Given the description of an element on the screen output the (x, y) to click on. 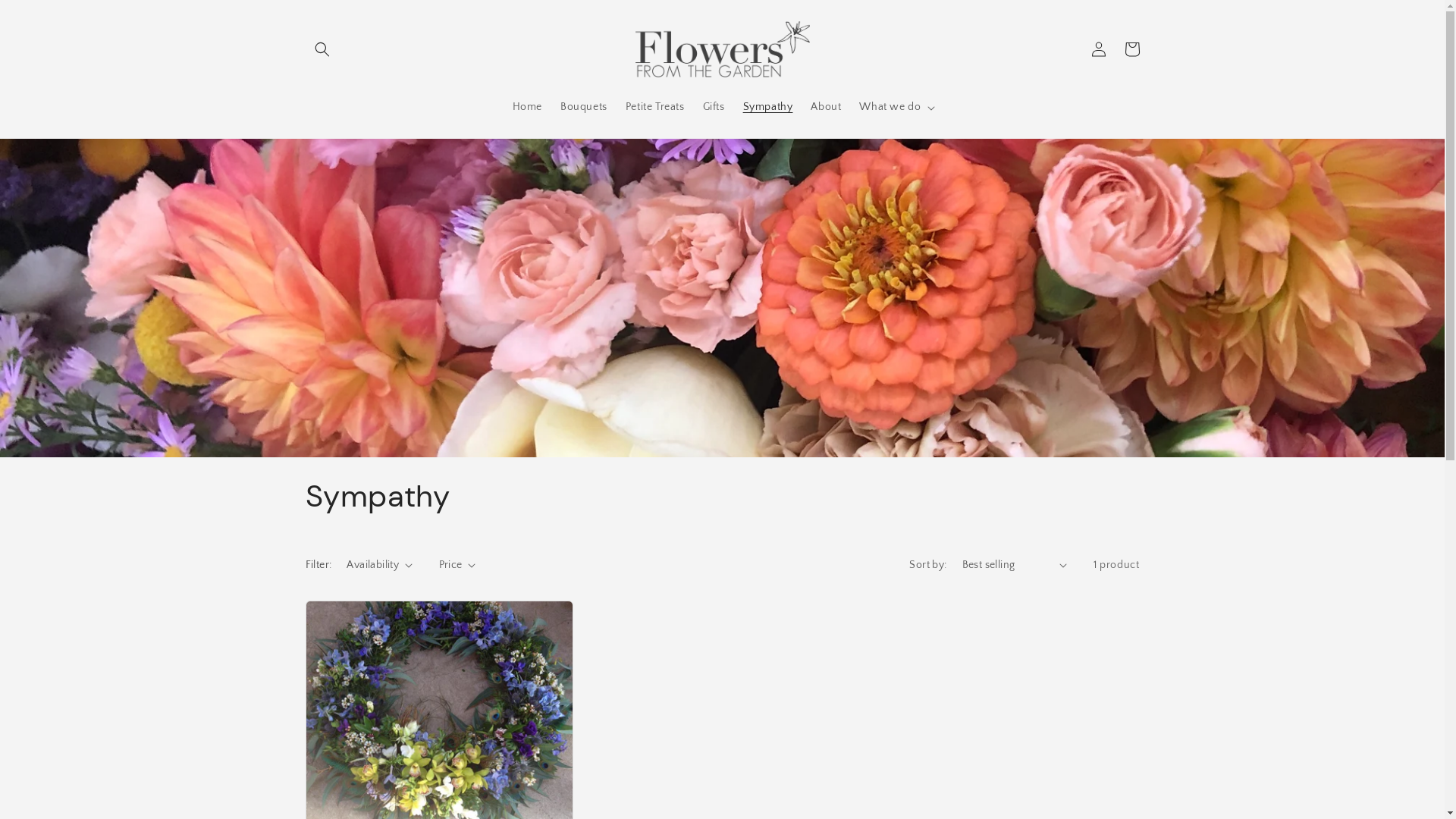
Bouquets Element type: text (583, 106)
Gifts Element type: text (713, 106)
Cart Element type: text (1131, 48)
About Element type: text (825, 106)
Log in Element type: text (1097, 48)
Home Element type: text (527, 106)
Petite Treats Element type: text (654, 106)
Sympathy Element type: text (768, 106)
